Given the description of an element on the screen output the (x, y) to click on. 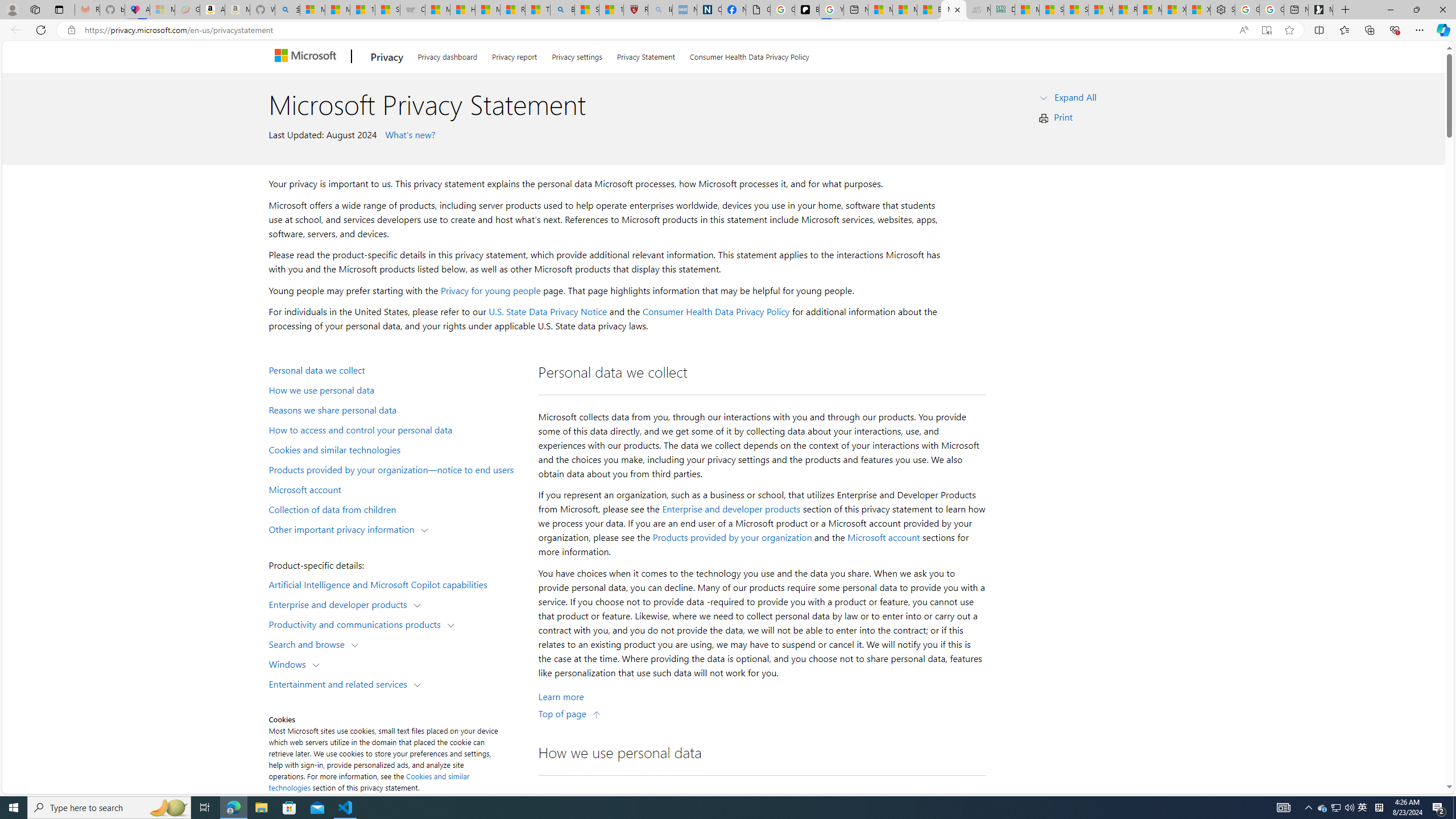
How I Got Rid of Microsoft Edge's Unnecessary Features (462, 9)
Microsoft (306, 56)
Asthma Inhalers: Names and Types (136, 9)
U.S. State Data Privacy Notice (548, 311)
 What's new? (408, 133)
Privacy settings (577, 54)
Privacy report (514, 54)
Entertainment - MSN (929, 9)
Products provided by your organization (732, 537)
Recipes - MSN (512, 9)
